Given the description of an element on the screen output the (x, y) to click on. 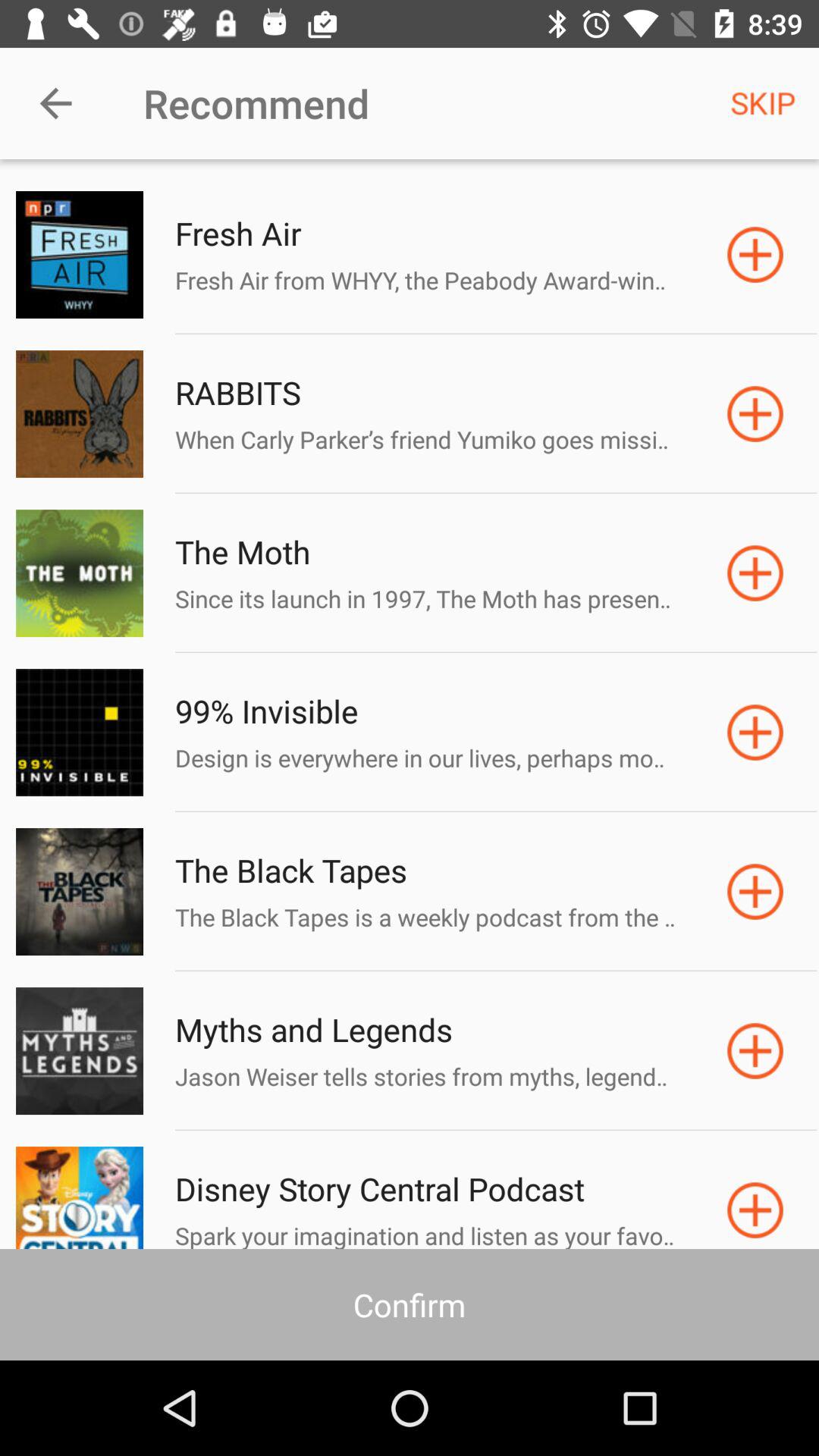
flip to the confirm (409, 1304)
